Given the description of an element on the screen output the (x, y) to click on. 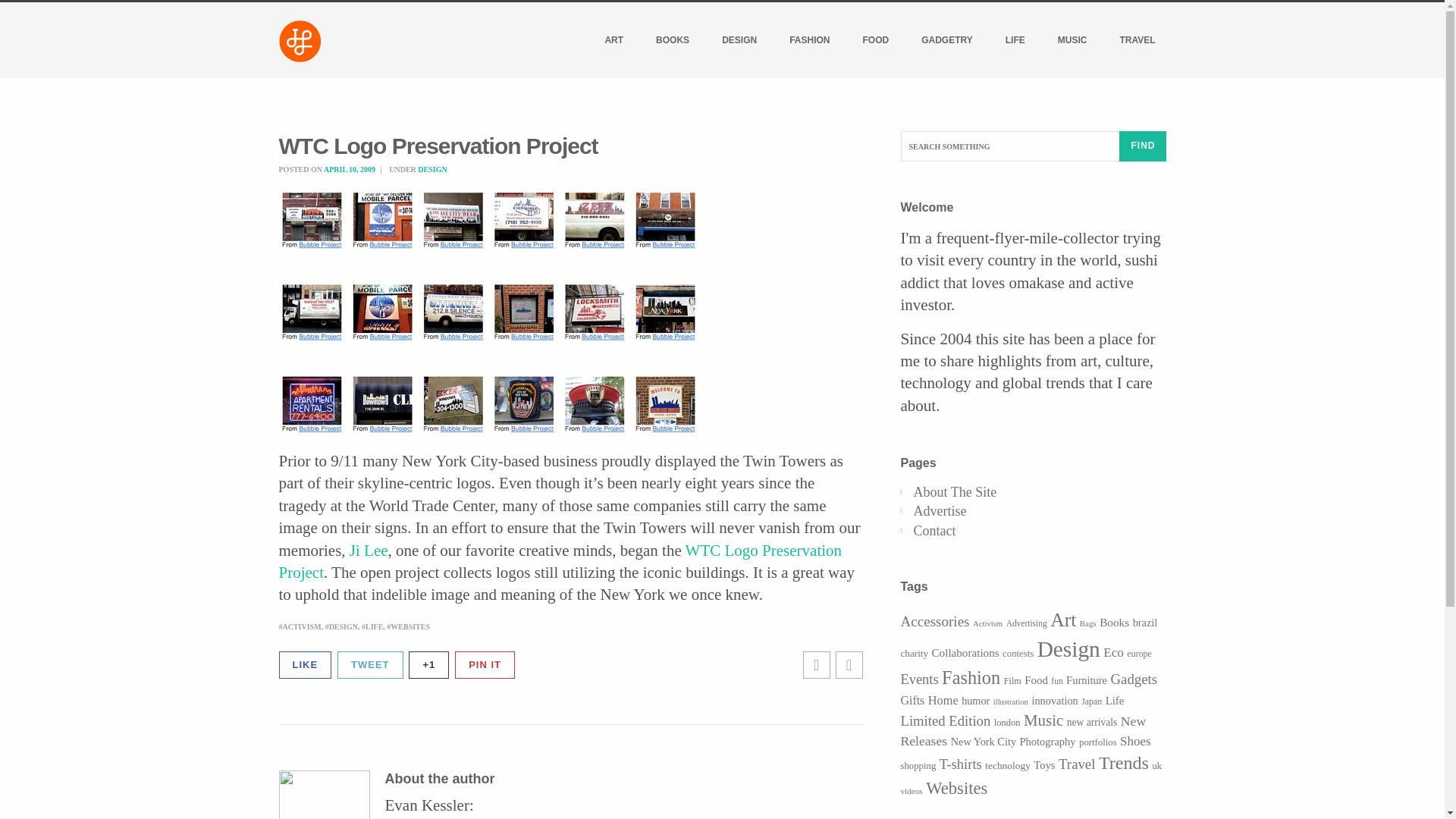
WEBSITES (408, 626)
95 topics (1088, 623)
202 topics (1114, 621)
DESIGN (341, 626)
Design (1068, 648)
GADGETRY (947, 39)
Advertise (939, 510)
About The Site (953, 491)
Advertising (1026, 623)
LIKE (305, 665)
Collaborations (964, 653)
FIND (1142, 146)
91 topics (987, 623)
brazil (1144, 622)
ACTIVISM (300, 626)
